Given the description of an element on the screen output the (x, y) to click on. 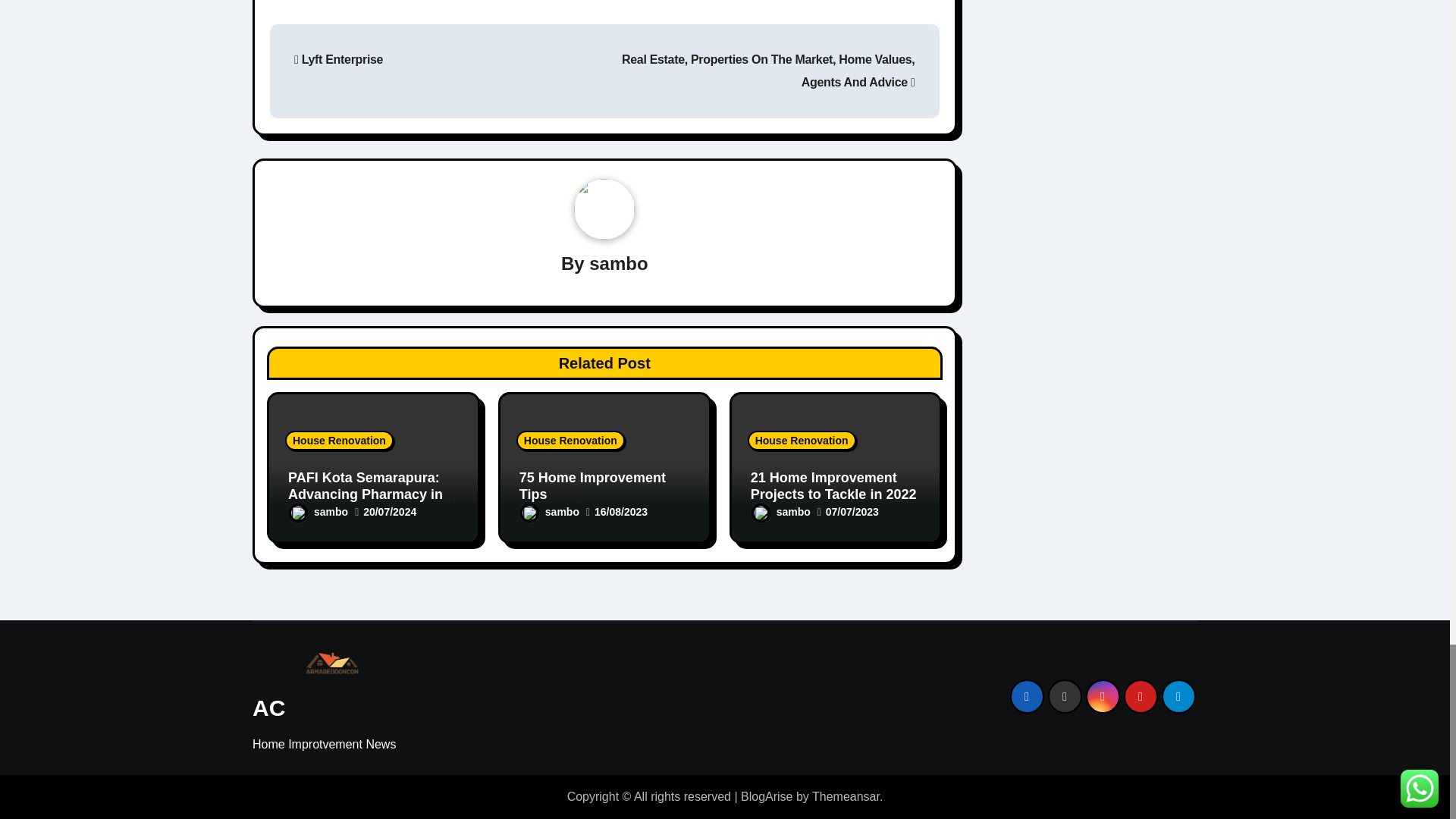
Lyft Enterprise (338, 59)
House Renovation (339, 440)
sambo (618, 263)
Permalink to: 21 Home Improvement Projects to Tackle in 2022 (834, 486)
sambo (317, 511)
Permalink to: 75 Home Improvement Tips (592, 486)
